Given the description of an element on the screen output the (x, y) to click on. 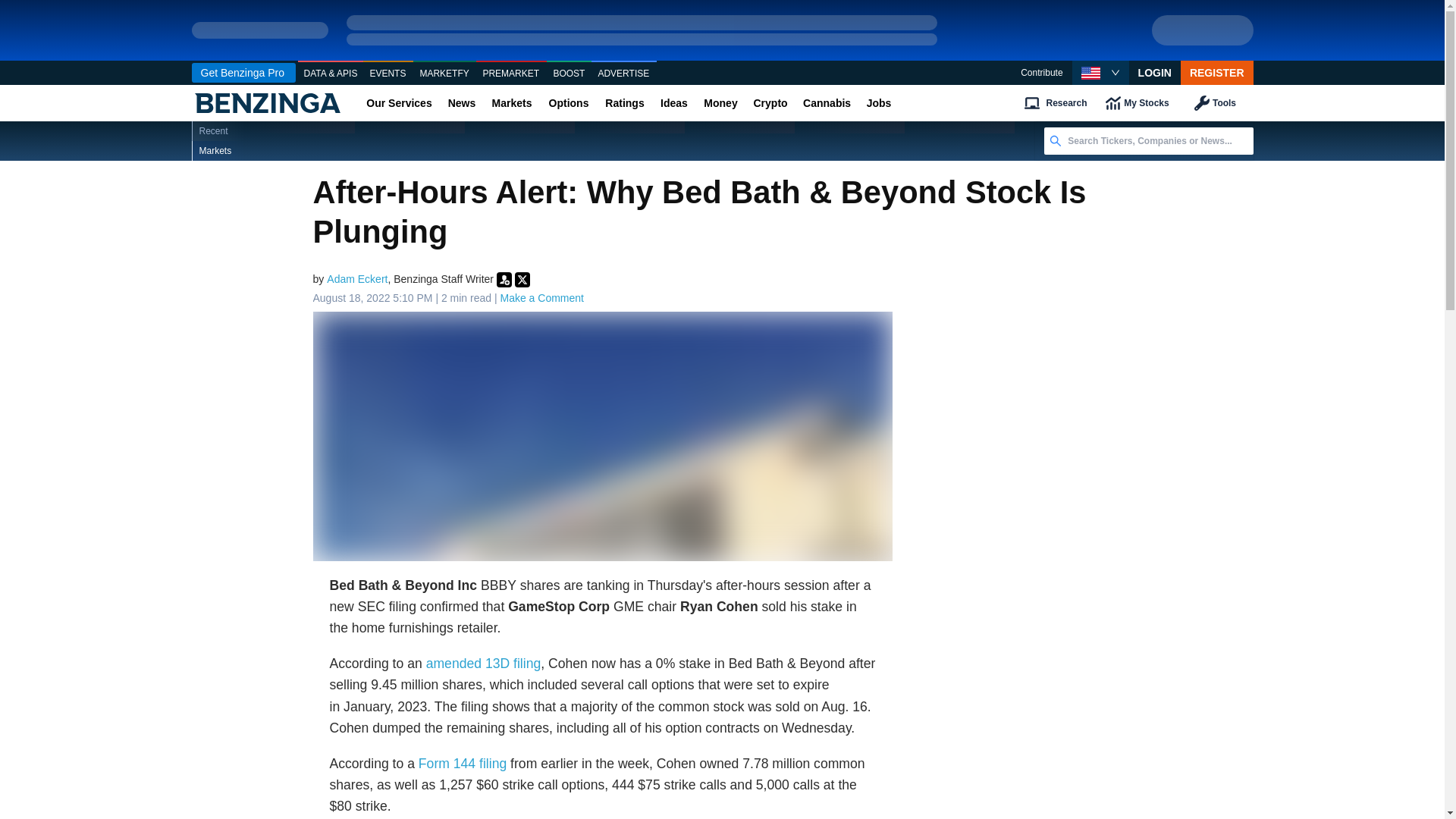
Our Services (398, 103)
Our Services (398, 103)
REGISTER (1216, 72)
Get Benzinga Pro (242, 72)
GET NOW (1202, 30)
MARKETFY (444, 73)
Contribute (1041, 72)
BOOST (569, 73)
USA (1090, 72)
LOGIN (1154, 72)
